Given the description of an element on the screen output the (x, y) to click on. 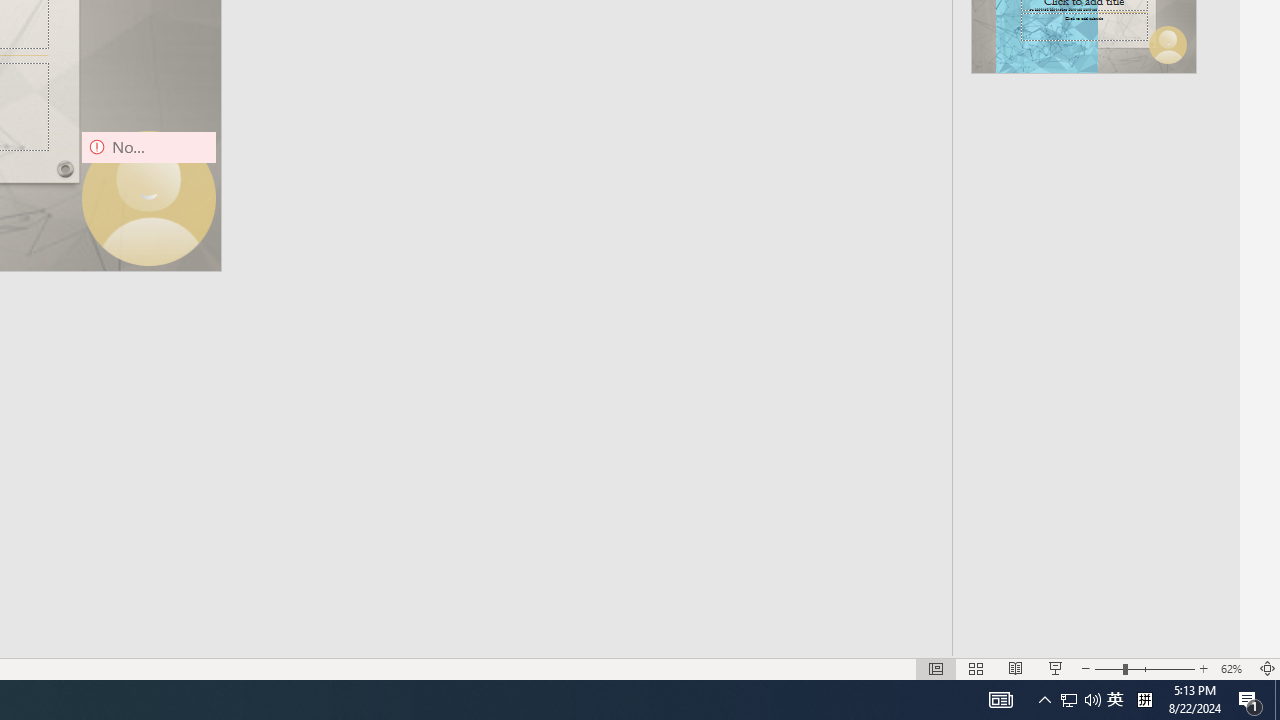
Camera 9, No camera detected. (148, 198)
Zoom 62% (1234, 668)
